Given the description of an element on the screen output the (x, y) to click on. 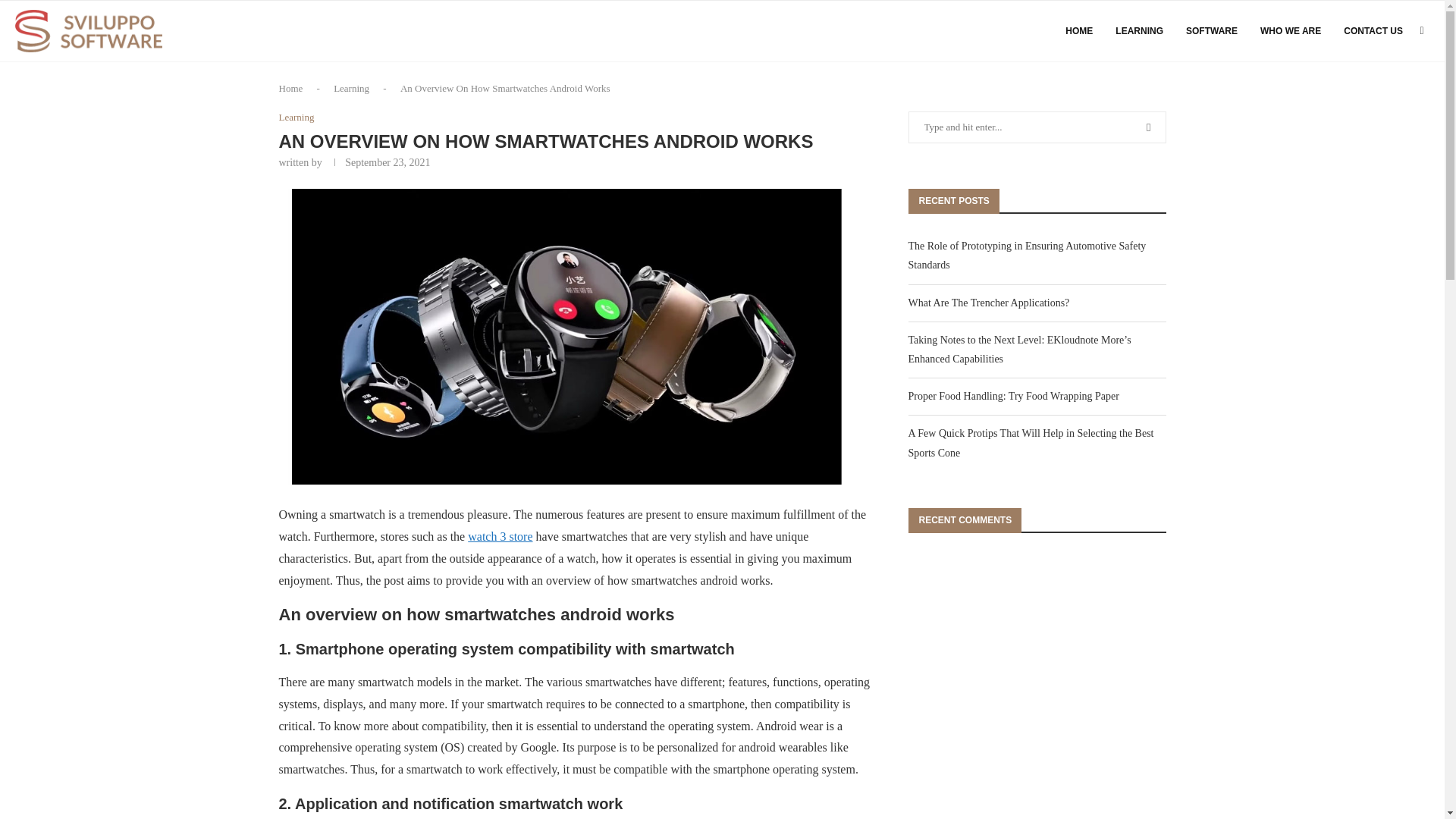
WHO WE ARE (1290, 30)
watch 3 store (499, 535)
Learning (296, 117)
LEARNING (1139, 30)
Learning (351, 88)
HOME (1079, 30)
Home (290, 88)
SOFTWARE (1211, 30)
CONTACT US (1373, 30)
